Given the description of an element on the screen output the (x, y) to click on. 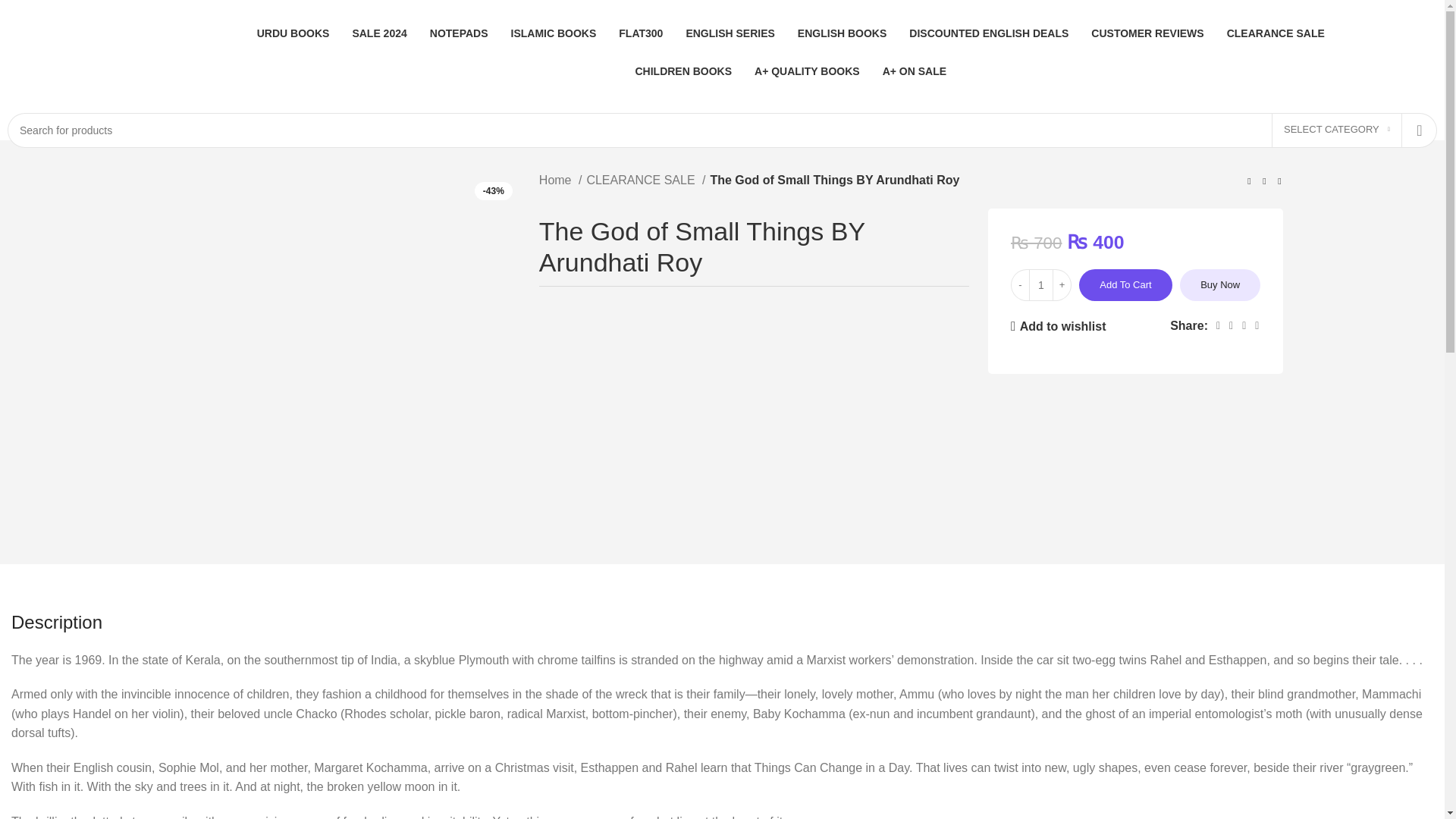
ISLAMIC BOOKS (553, 33)
Home (560, 180)
Search (1419, 130)
CLEARANCE SALE (645, 180)
SELECT CATEGORY (1336, 130)
Search for products (722, 130)
CUSTOMER REVIEWS (1147, 33)
SELECT CATEGORY (1336, 130)
ENGLISH SERIES (729, 33)
DISCOUNTED ENGLISH DEALS (988, 33)
